Given the description of an element on the screen output the (x, y) to click on. 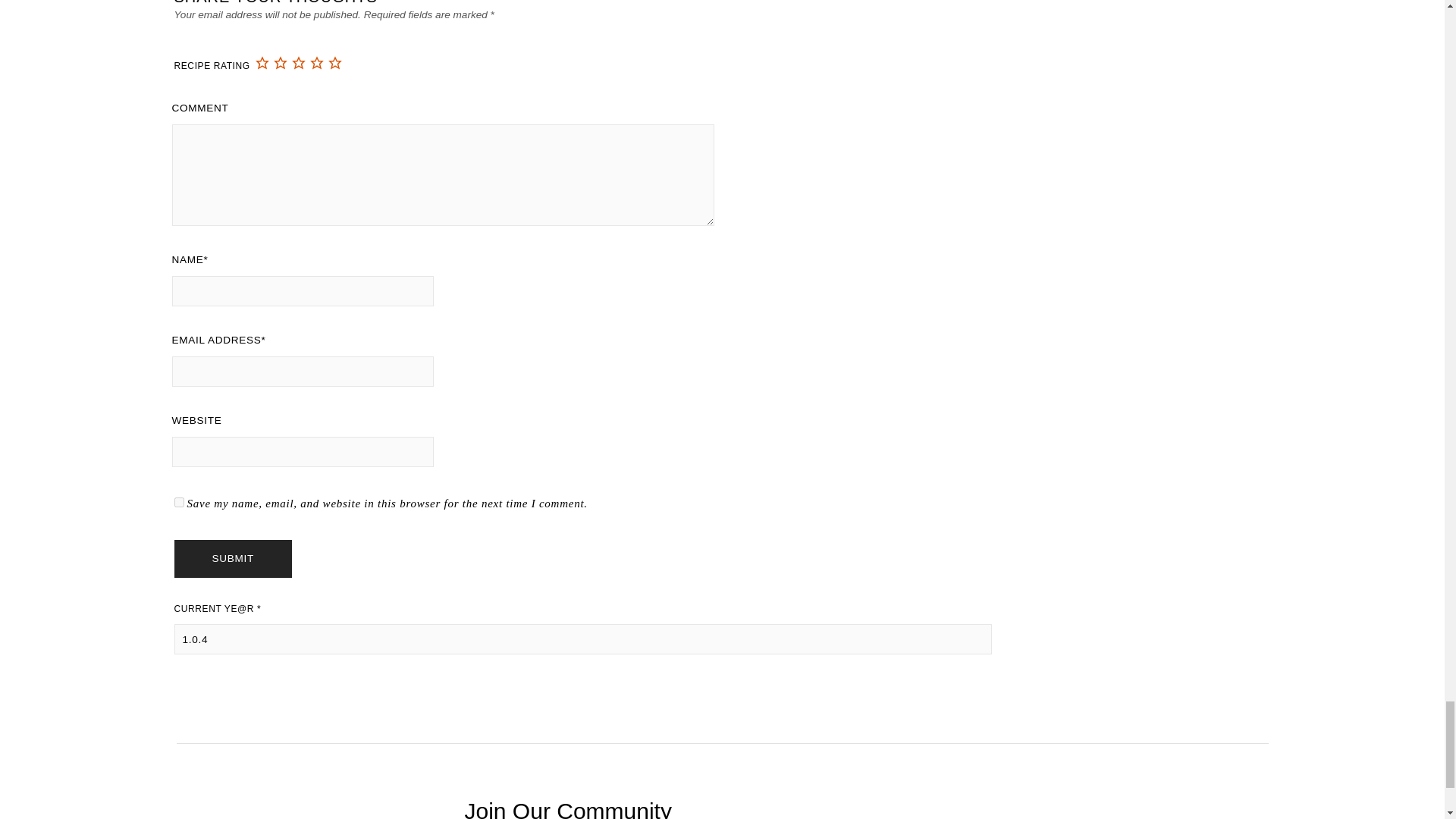
Submit (233, 558)
1.0.4 (583, 639)
yes (179, 501)
